Given the description of an element on the screen output the (x, y) to click on. 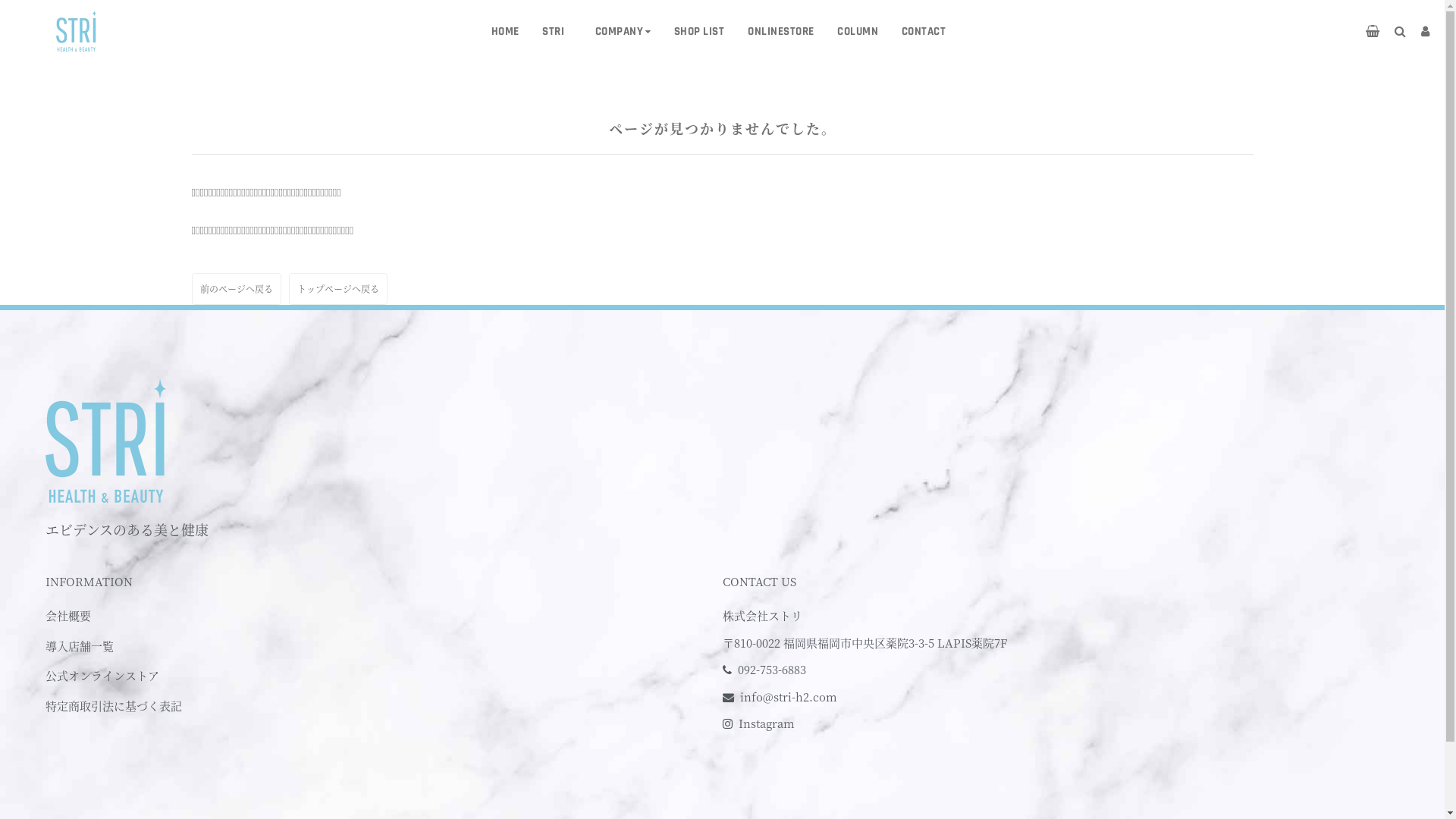
COLUMN Element type: text (857, 31)
info@stri-h2.com Element type: text (788, 696)
CONTACT Element type: text (923, 31)
SHOP LIST Element type: text (699, 31)
COMPANY Element type: text (619, 31)
Instagram Element type: text (766, 723)
TOP Element type: text (199, 56)
HOME Element type: text (505, 31)
ONLINESTORE Element type: text (780, 31)
STRI Element type: text (553, 31)
